Given the description of an element on the screen output the (x, y) to click on. 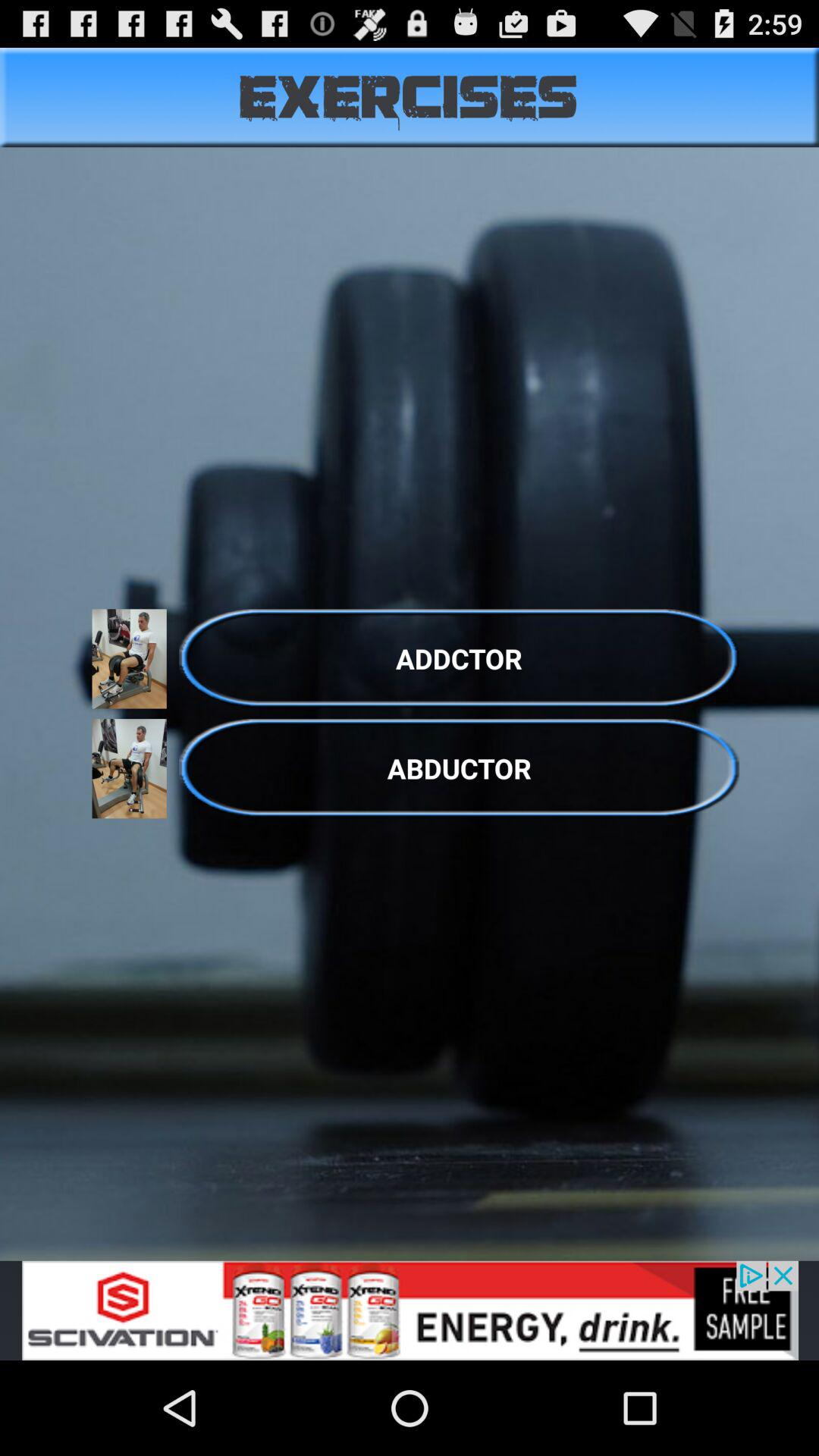
sponsored content (409, 1310)
